Given the description of an element on the screen output the (x, y) to click on. 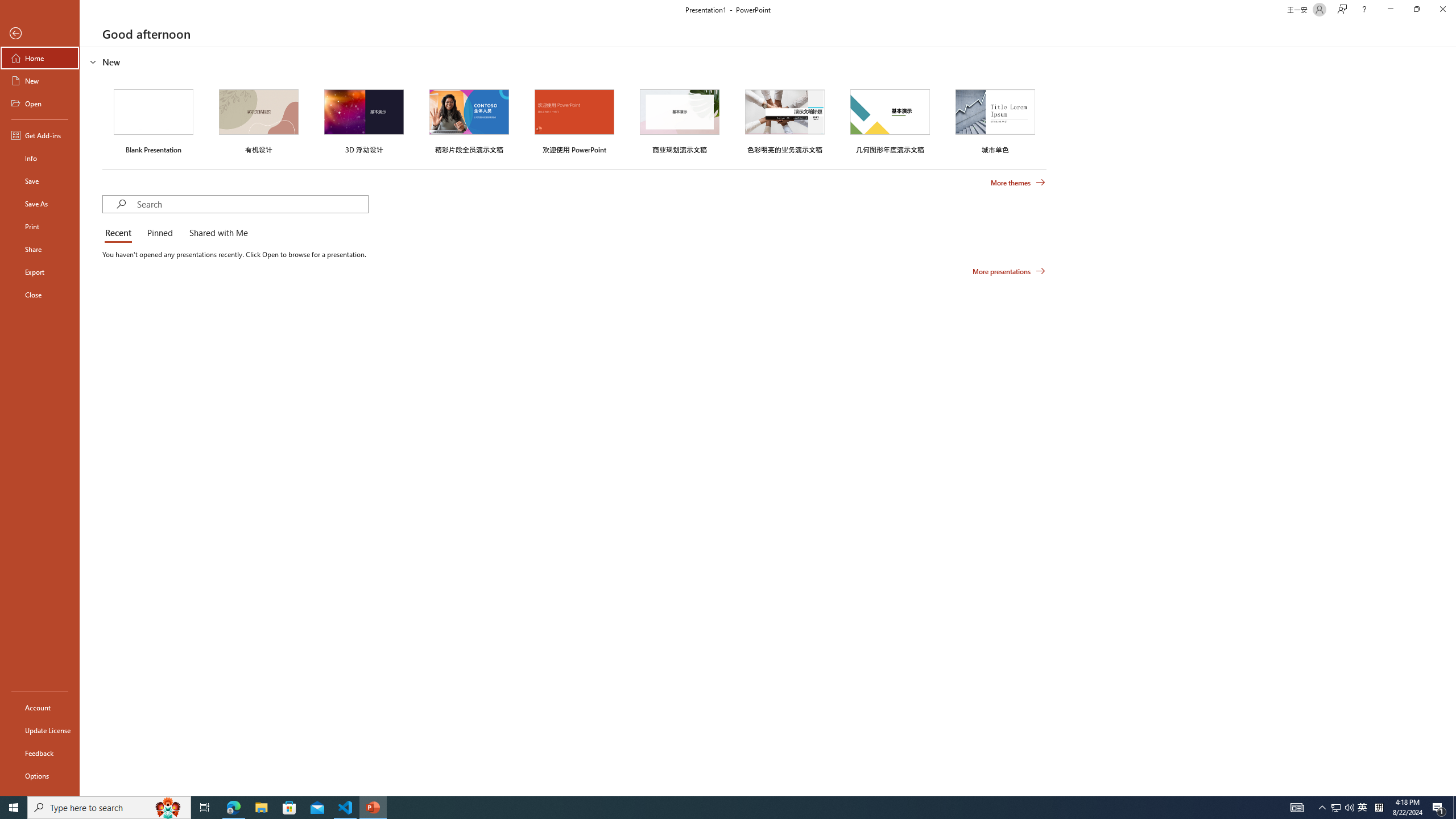
Save (40, 180)
Class: NetUIScrollBar (1450, 421)
Hide or show region (92, 61)
Search (252, 203)
Minimize (1390, 9)
Recent (119, 233)
Restore Down (1416, 9)
Open (40, 102)
Close (1442, 9)
